Given the description of an element on the screen output the (x, y) to click on. 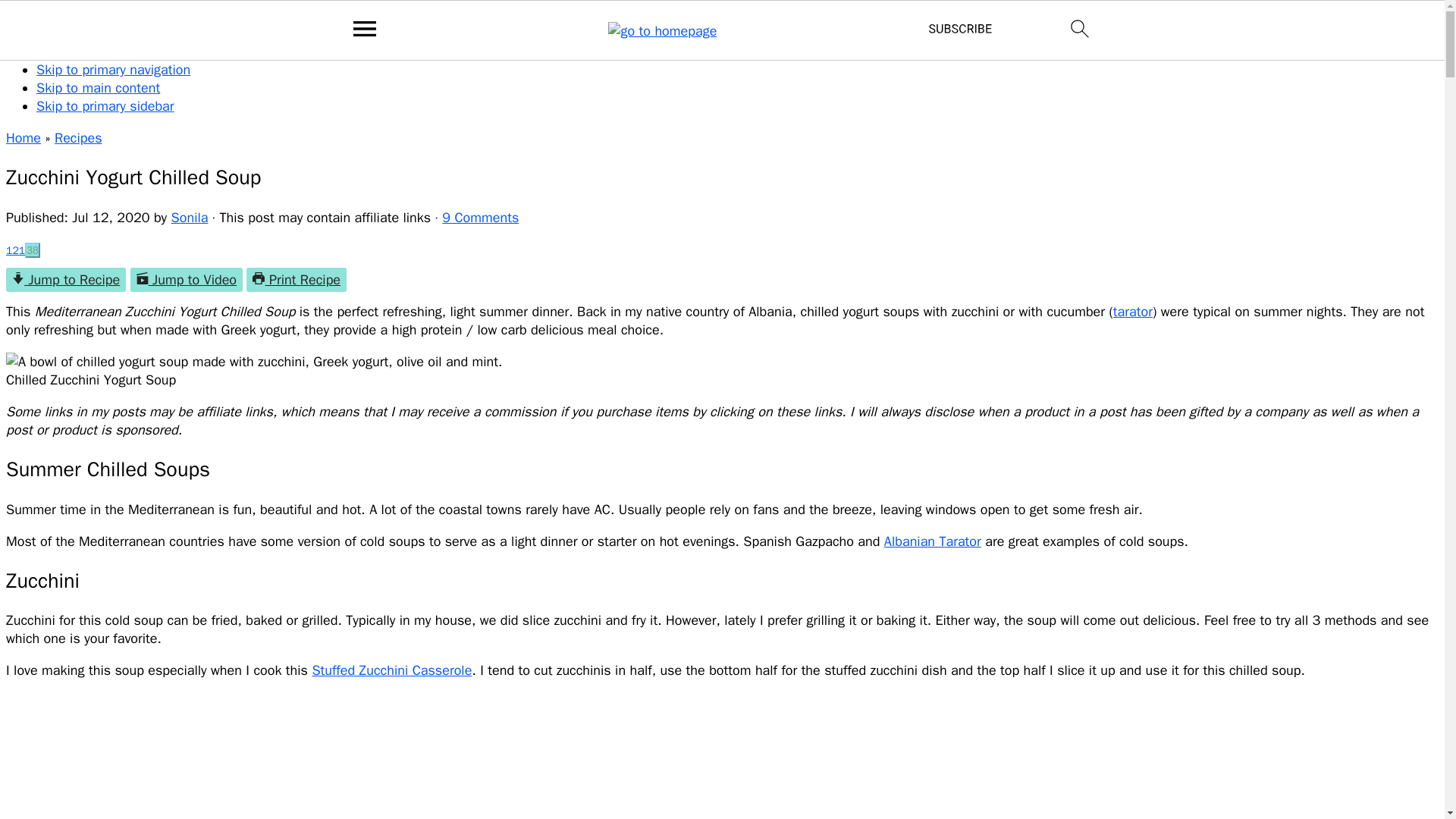
Sonila (189, 217)
38 (32, 249)
search icon (1080, 30)
Save to Pinterest (32, 249)
Skip to primary sidebar (105, 105)
search icon (1080, 28)
menu icon (365, 30)
121 (14, 250)
Jump to Recipe (65, 279)
Share on Facebook (14, 250)
9 Comments (480, 217)
Stuffed Zucchini Casserole (391, 669)
Albanian Tarator (932, 541)
tarator (1133, 311)
Home (22, 137)
